Given the description of an element on the screen output the (x, y) to click on. 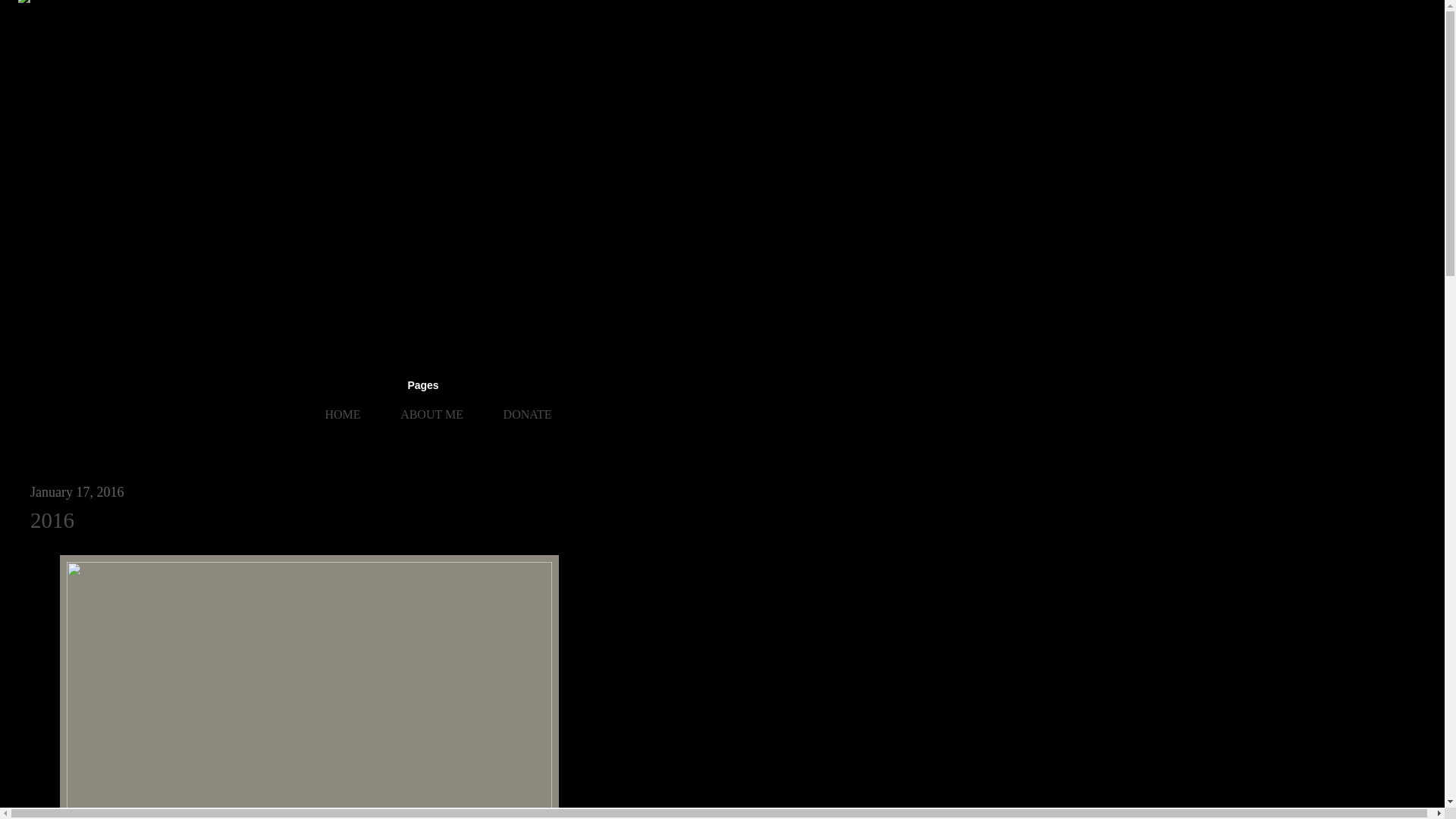
HOME (341, 415)
DONATE (527, 415)
ABOUT ME (431, 415)
